Given the description of an element on the screen output the (x, y) to click on. 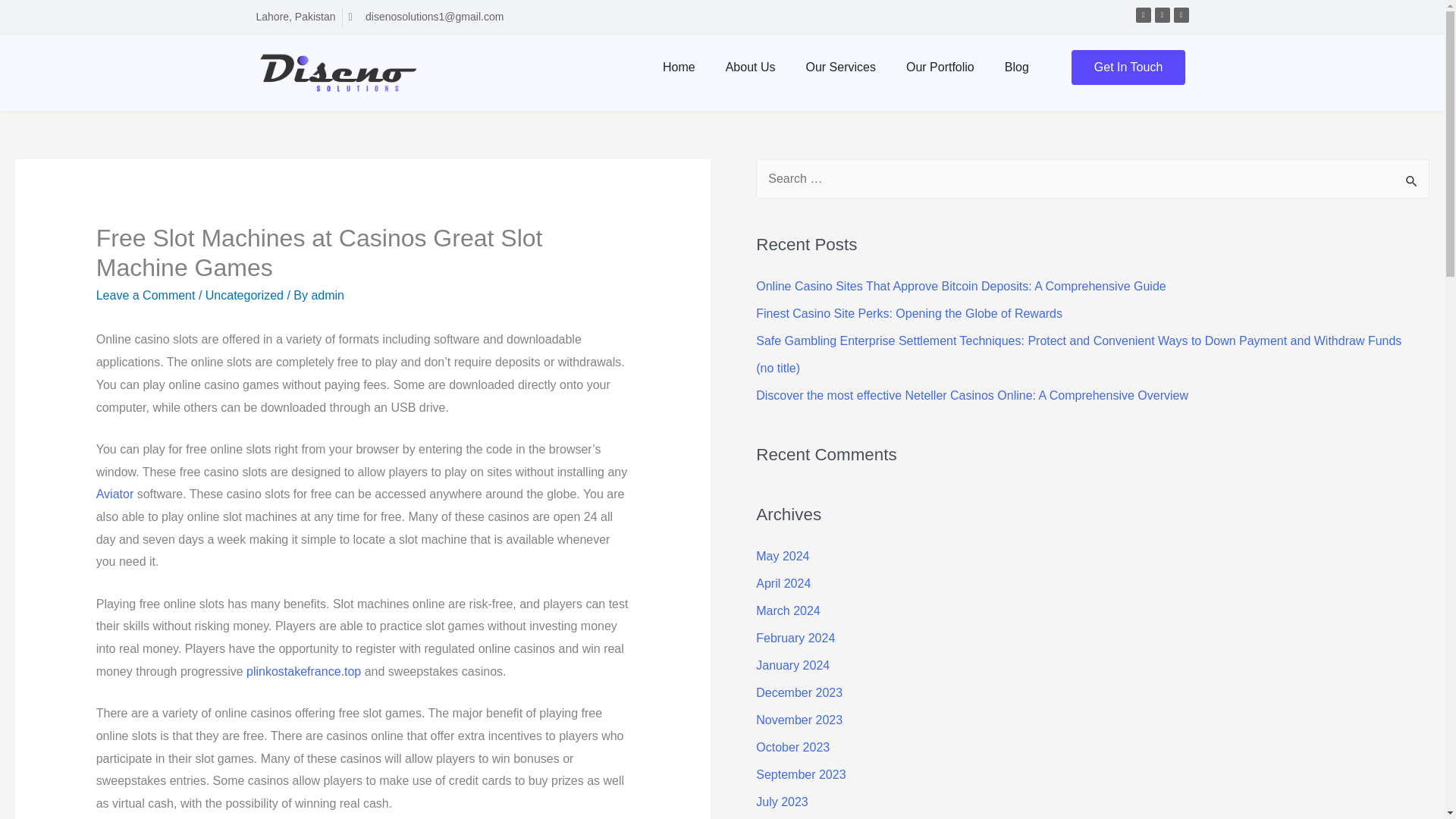
Our Portfolio (940, 67)
Home (678, 67)
View all posts by admin (327, 295)
Our Services (839, 67)
Get In Touch (1128, 67)
Blog (1016, 67)
About Us (750, 67)
